Given the description of an element on the screen output the (x, y) to click on. 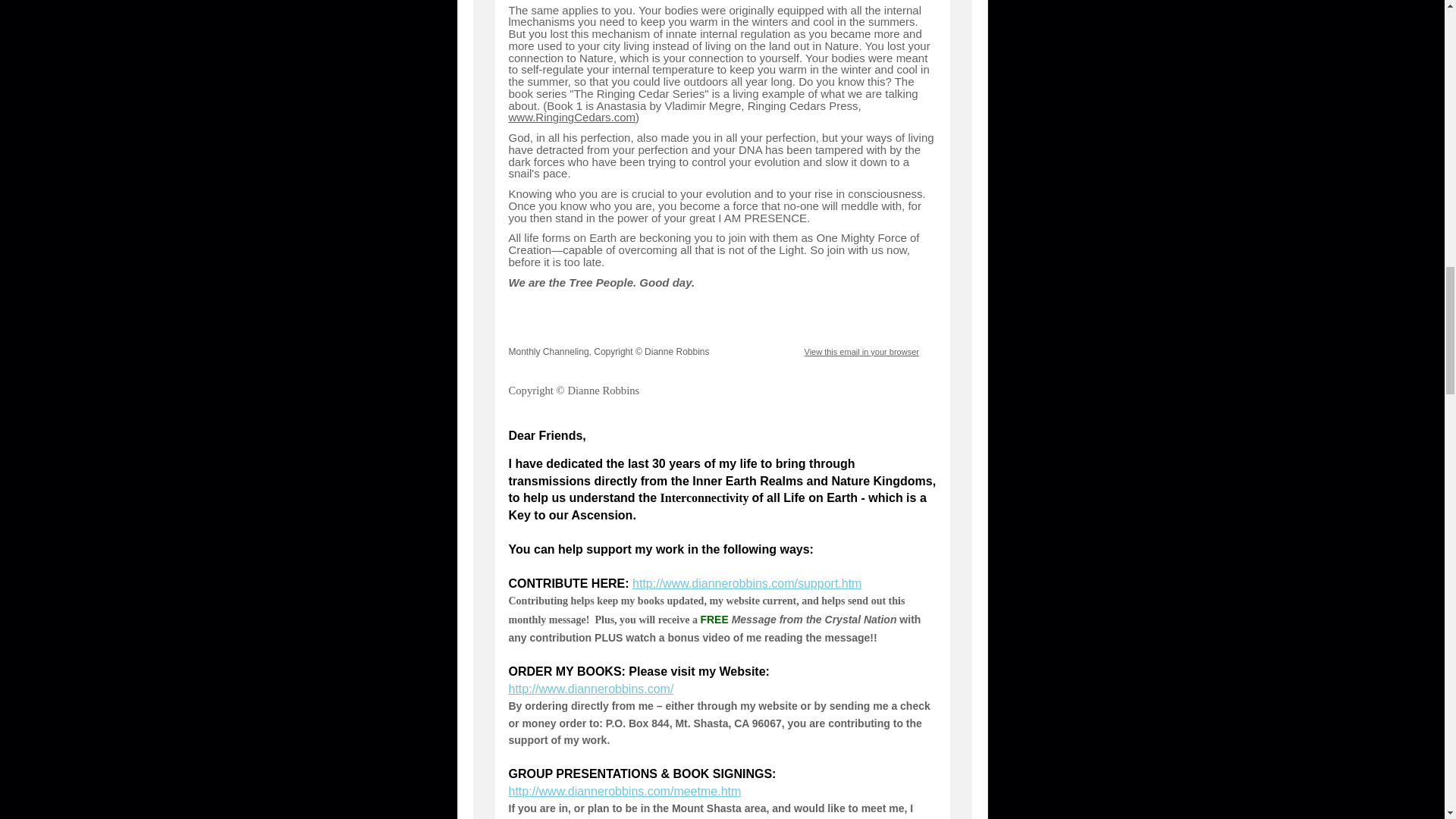
Basic - 1 Column (551, 351)
www.RingingCedars.com (571, 116)
View this email in your browser (860, 351)
